Given the description of an element on the screen output the (x, y) to click on. 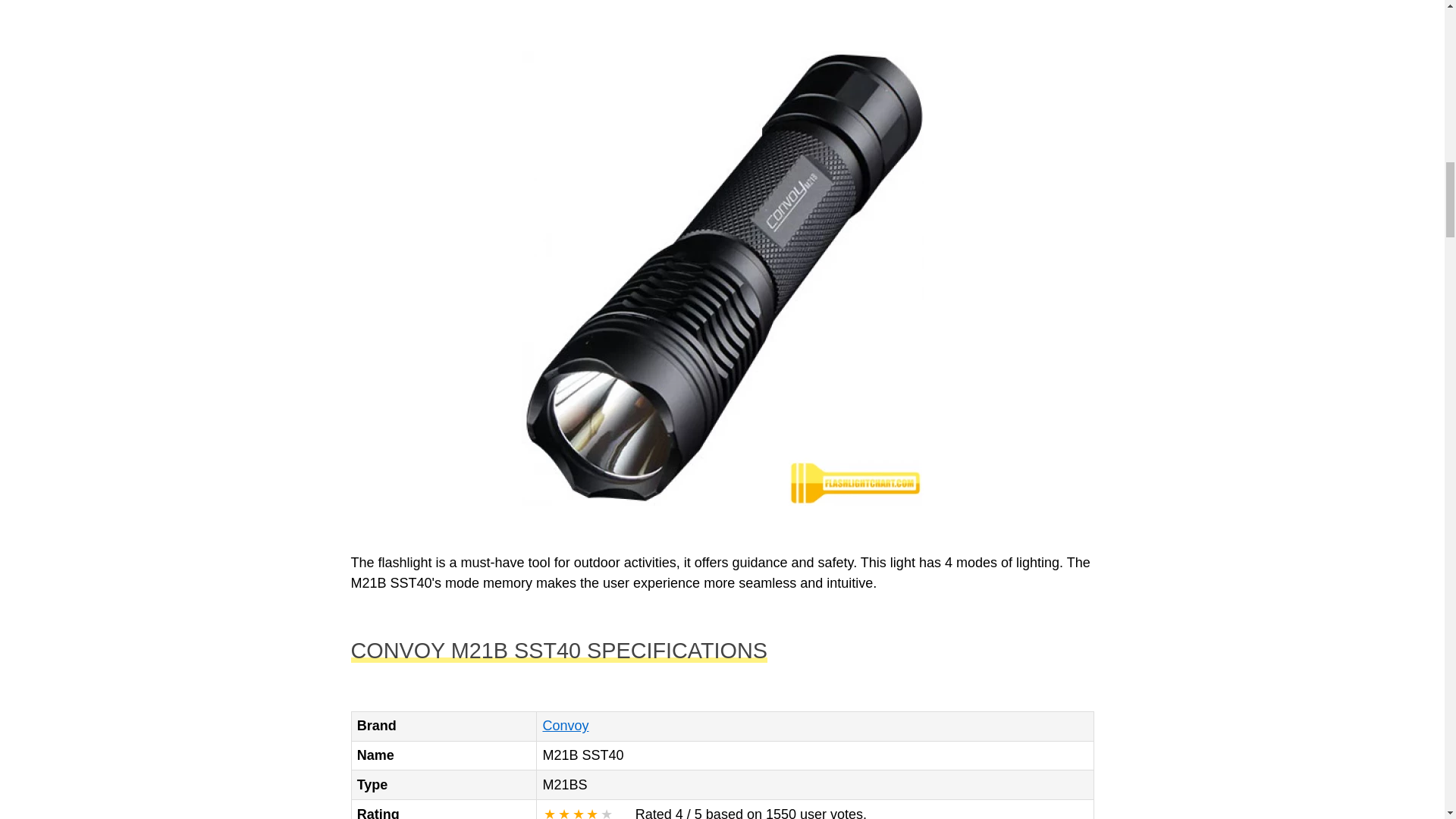
Convoy flashlights (564, 725)
Convoy (564, 725)
Advertisement (721, 11)
